Given the description of an element on the screen output the (x, y) to click on. 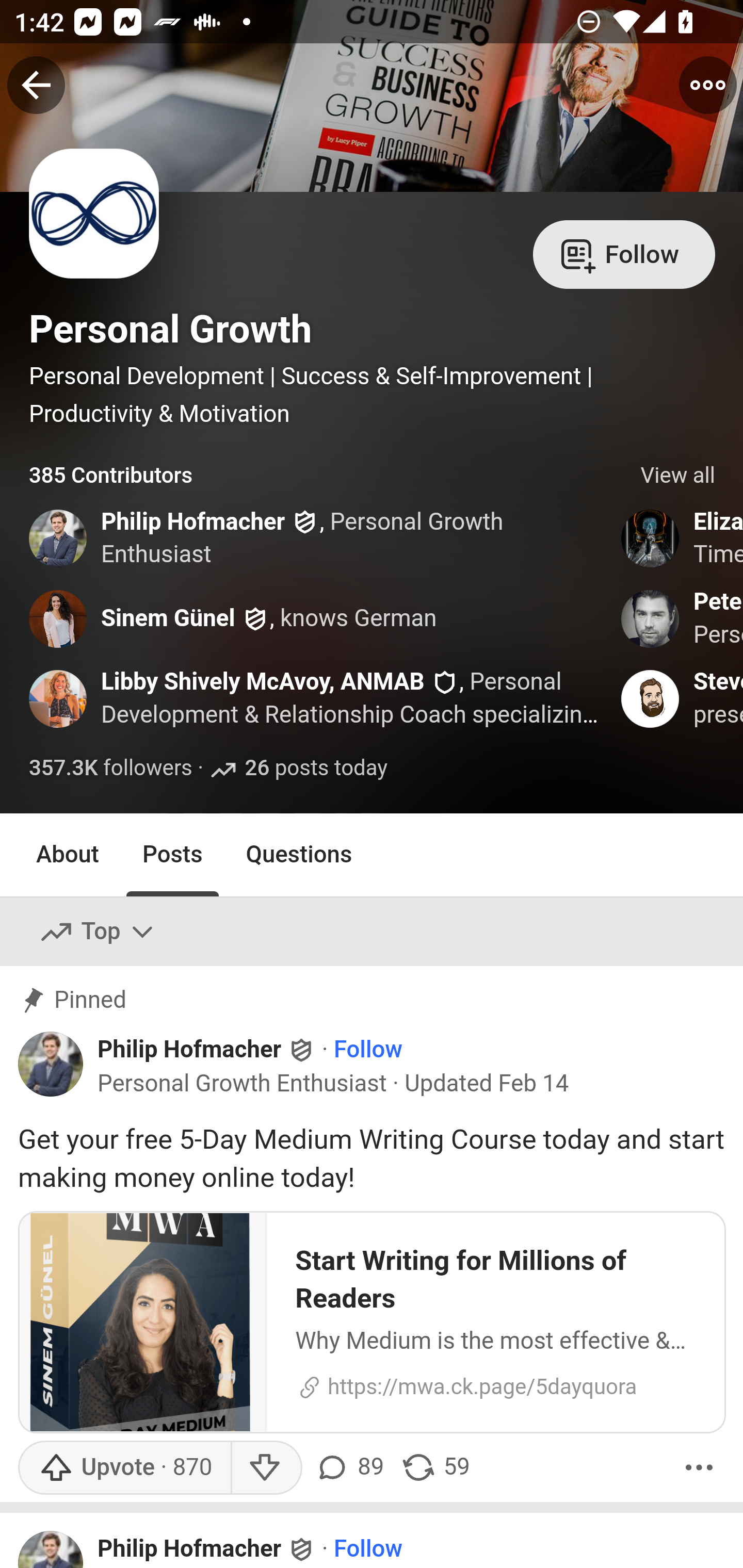
Follow (623, 252)
Personal Growth (170, 329)
View all (677, 475)
Philip Hofmacher (193, 521)
Profile photo for Philip Hofmacher (58, 538)
Profile photo for Elizabeth York (650, 538)
Profile photo for Sinem Günel (58, 617)
Profile photo for Peter Mayer (650, 617)
Sinem Günel (168, 618)
Libby Shively McAvoy, ANMAB (263, 682)
Profile photo for Libby Shively McAvoy, ANMAB (58, 699)
Profile photo for Steve Dani (650, 699)
About (68, 854)
Posts (171, 854)
Questions (299, 854)
Top (97, 931)
Profile photo for Philip Hofmacher (50, 1063)
Philip Hofmacher Philip Hofmacher   (207, 1049)
Follow (368, 1051)
Upvote (124, 1466)
Downvote (266, 1466)
89 comments (352, 1466)
59 shares (434, 1466)
More (699, 1466)
Profile photo for Philip Hofmacher (50, 1548)
Philip Hofmacher (189, 1548)
Follow (368, 1548)
